Given the description of an element on the screen output the (x, y) to click on. 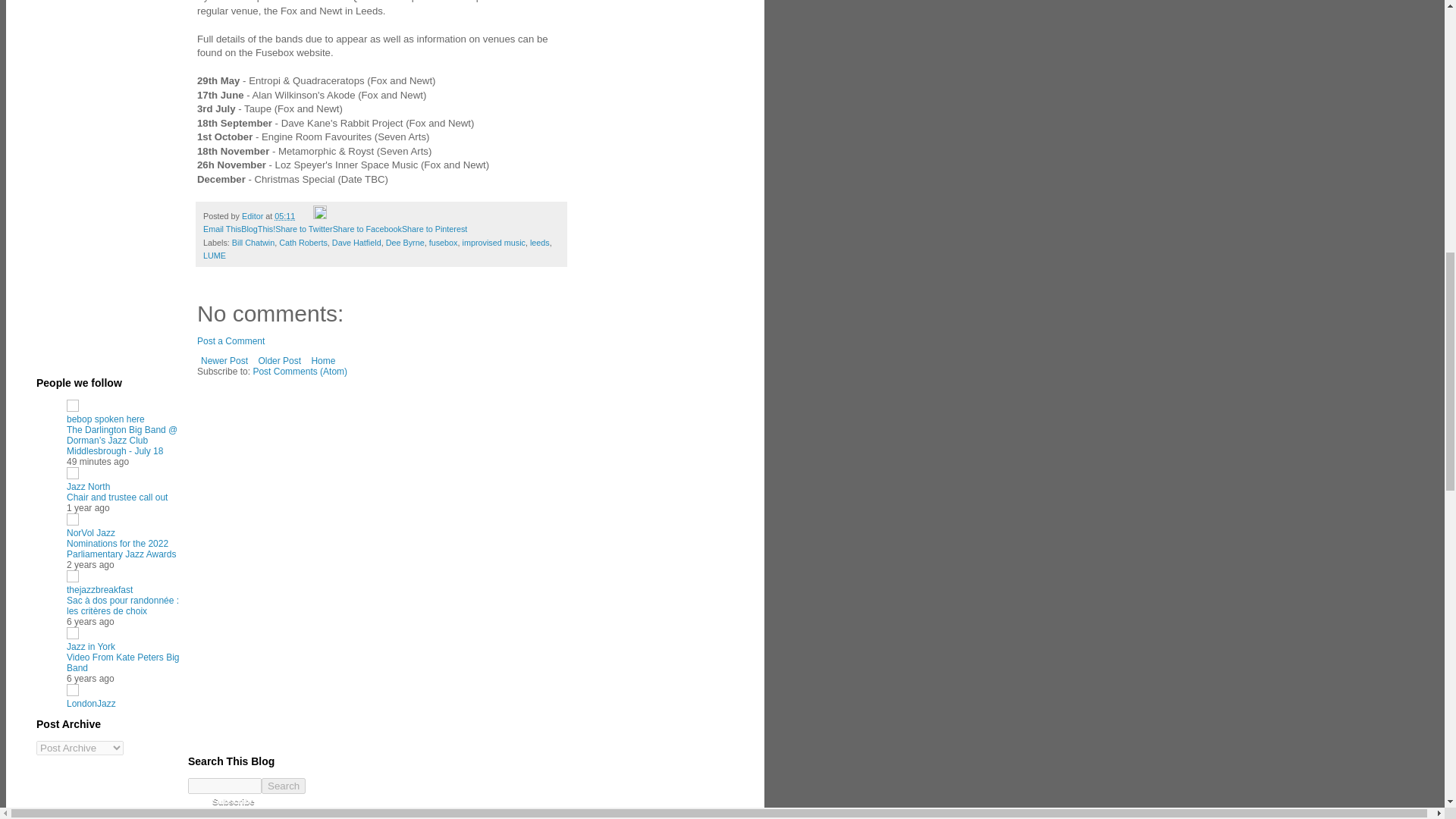
Dee Byrne (405, 242)
05:11 (285, 215)
bebop spoken here (105, 419)
search (224, 785)
LUME (214, 255)
permanent link (285, 215)
Search (283, 785)
leeds (539, 242)
Share to Twitter (303, 228)
Newer Post (223, 361)
Cath Roberts (303, 242)
NorVol Jazz (90, 532)
Home (323, 361)
Editor (252, 215)
Video From Kate Peters Big Band (122, 662)
